Given the description of an element on the screen output the (x, y) to click on. 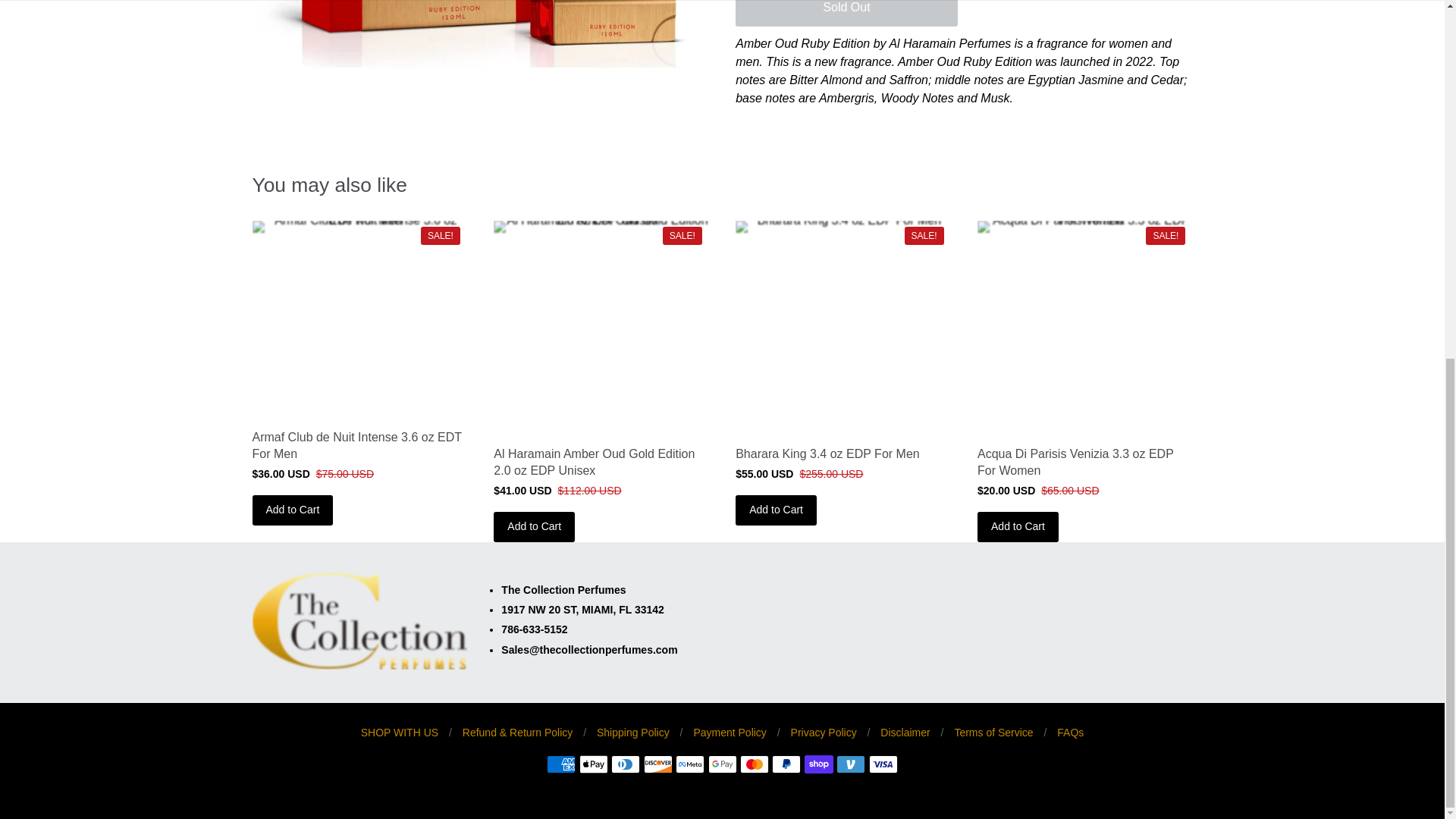
Diners Club (625, 764)
Visa (883, 764)
Apple Pay (593, 764)
Acqua Di Parisis Venizia 3.3 oz EDP For Women (1074, 461)
Shop Pay (818, 764)
Acqua Di Parisis Venizia 3.3 oz EDP For Women (1084, 327)
Al Haramain Amber Oud Gold Edition 2.0 oz EDP Unisex (600, 327)
Armaf Club de Nuit Intense 3.6 oz EDT For Men (356, 445)
Bharara King 3.4 oz EDP For Men (842, 327)
Al Haramain Amber Oud Ruby Edition 4.0 oz EDP Unisex (479, 33)
